Given the description of an element on the screen output the (x, y) to click on. 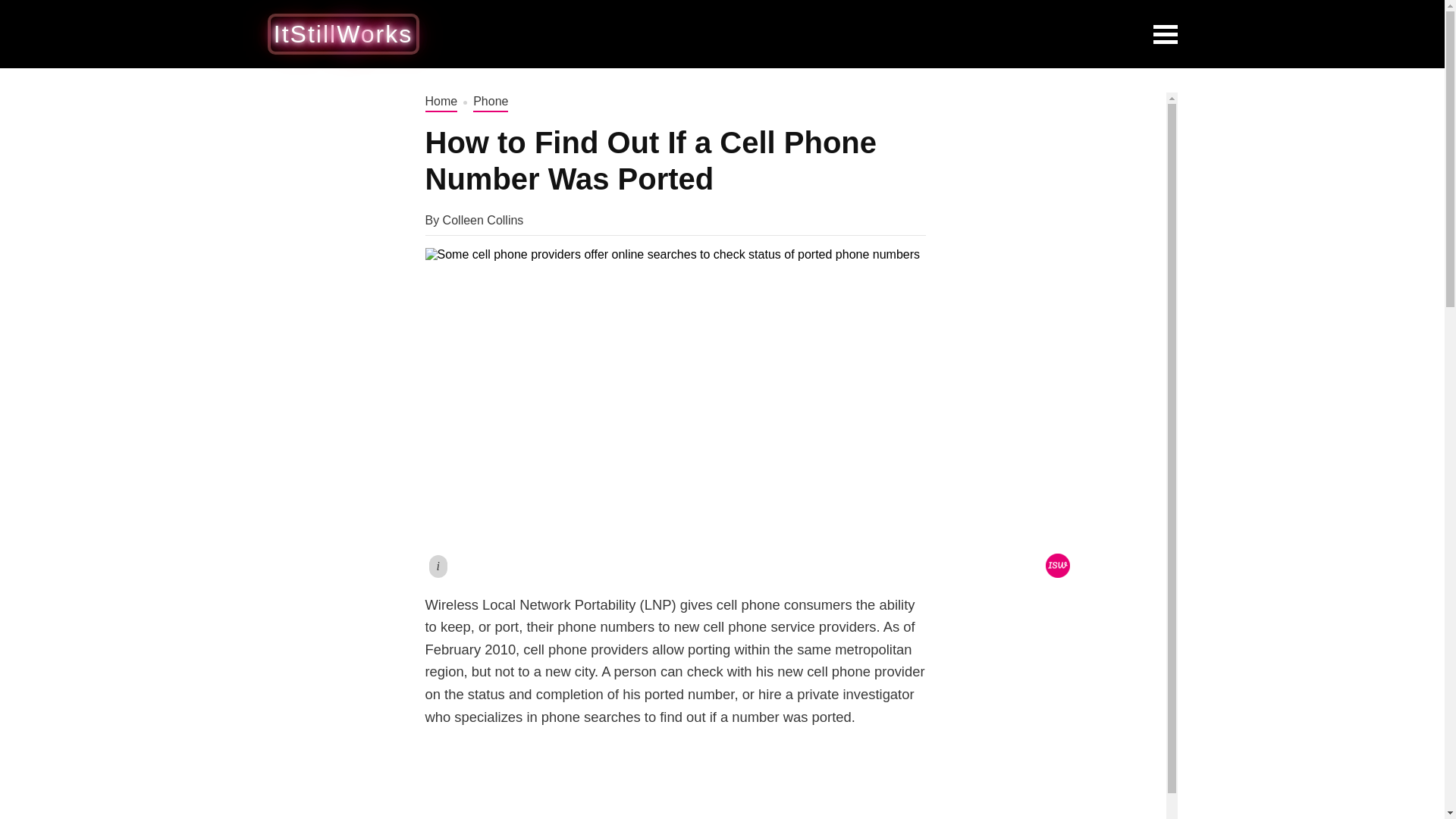
Phone (490, 102)
Home (441, 102)
ItStillWorks (342, 33)
